Given the description of an element on the screen output the (x, y) to click on. 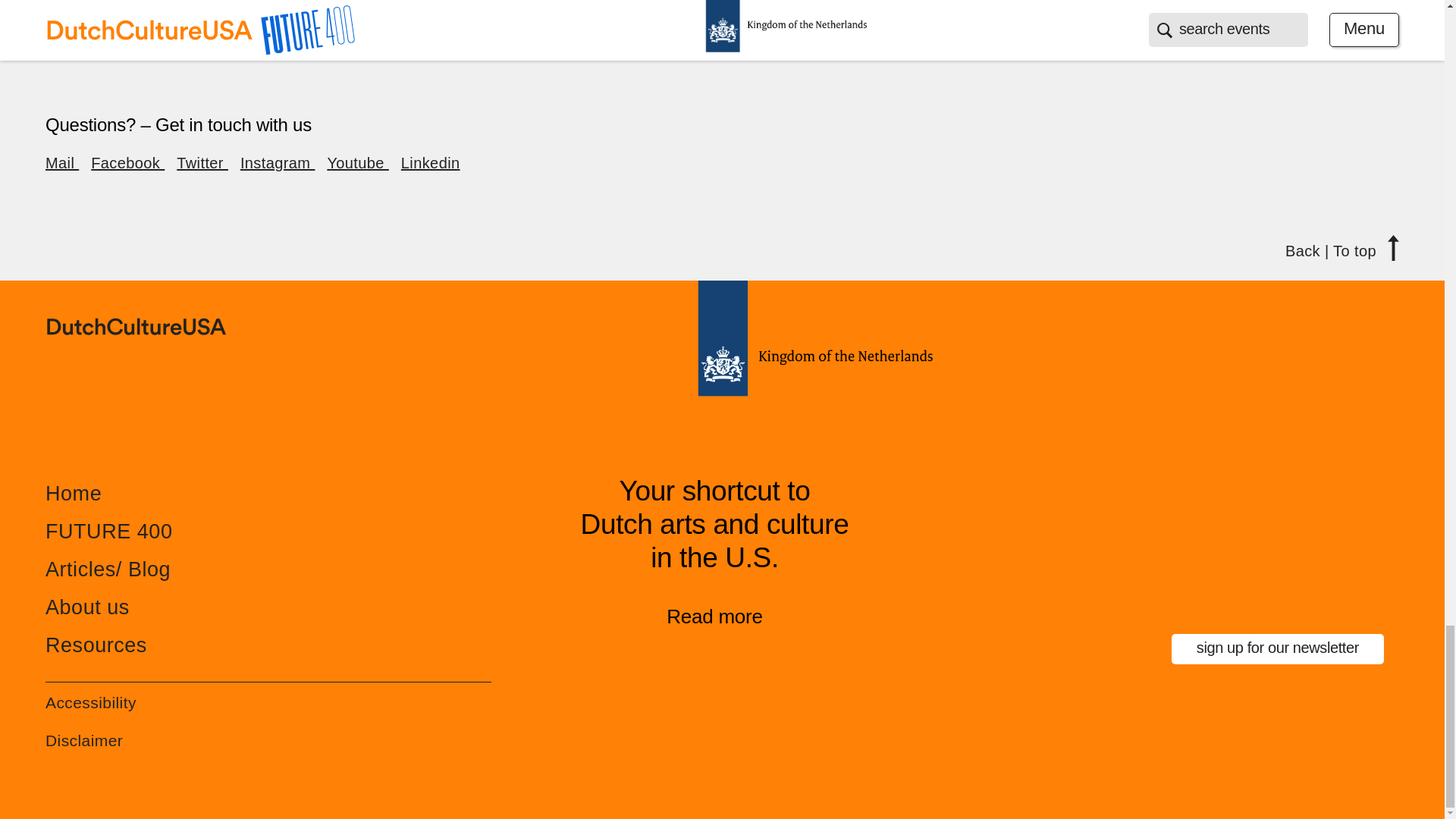
Mail (61, 162)
Instagram (277, 162)
Facebook (127, 162)
Twitter (202, 162)
Youtube (357, 162)
